Given the description of an element on the screen output the (x, y) to click on. 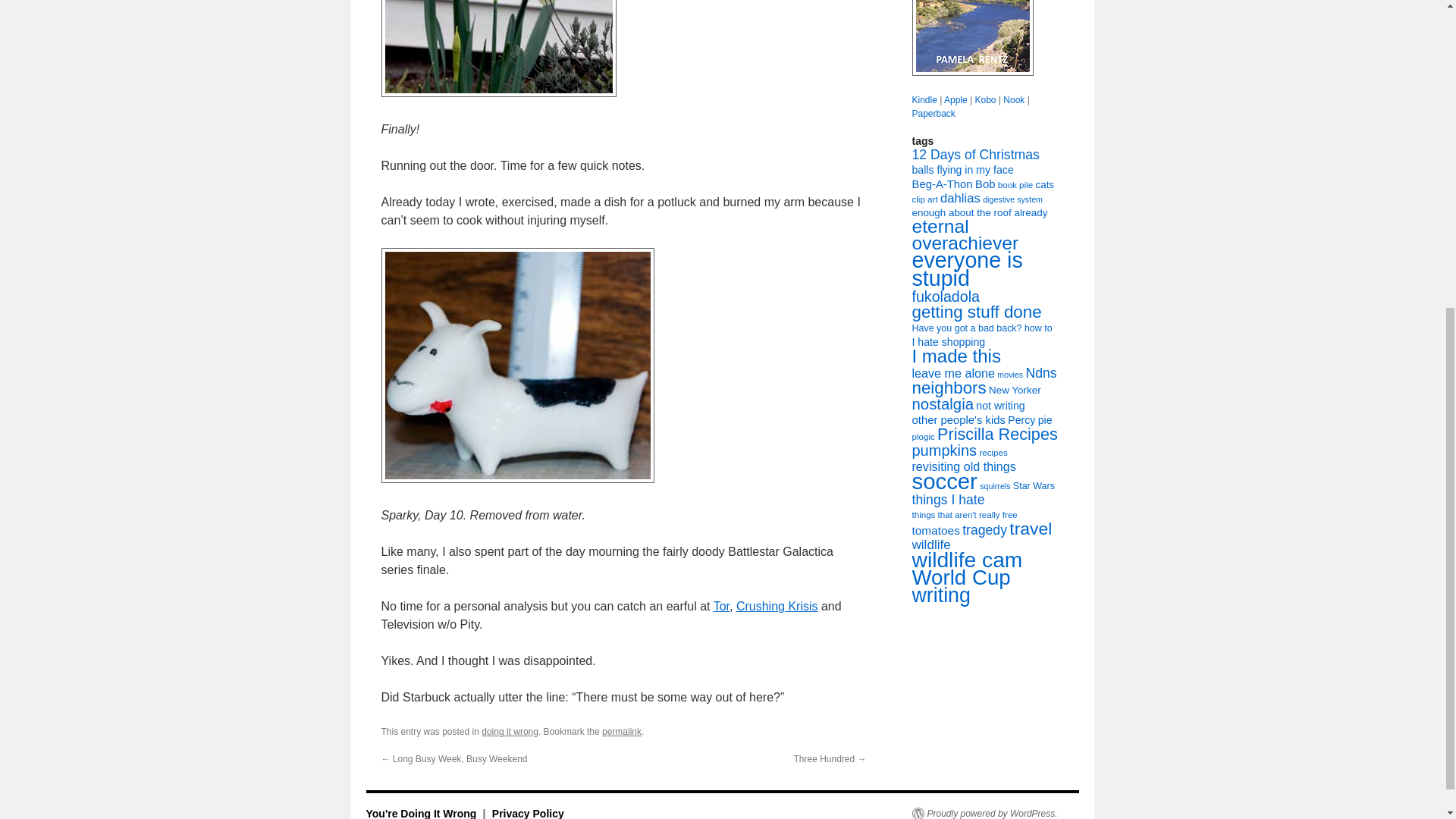
Paperback (933, 113)
Kindle (923, 100)
Nook (1014, 100)
enough about the roof already (978, 212)
Tor (721, 605)
doing it wrong (509, 731)
Permalink to Fairly Doodie (622, 731)
everyone is stupid (966, 269)
cats (1044, 184)
fukoladola (944, 296)
